Given the description of an element on the screen output the (x, y) to click on. 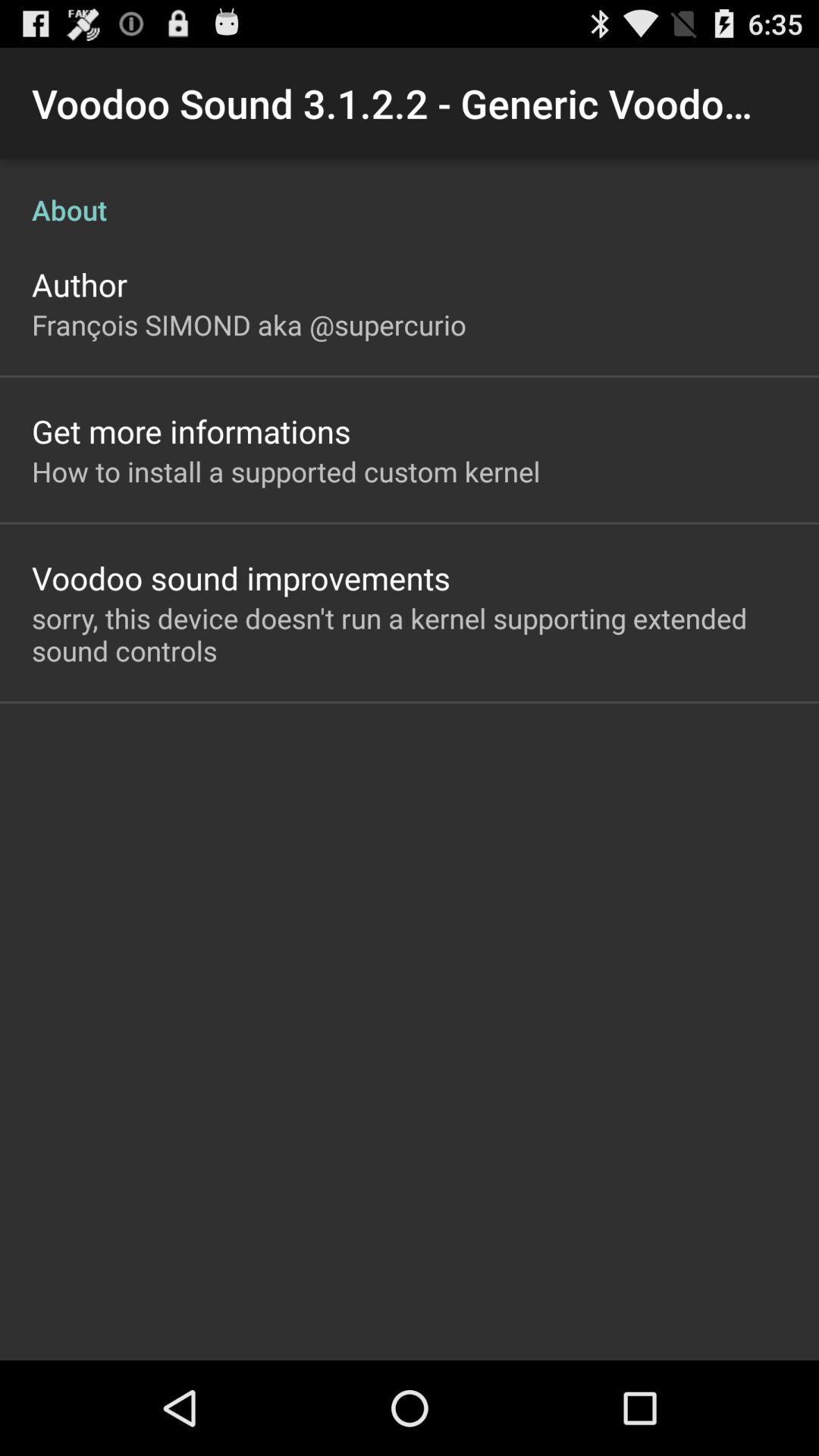
launch item above the author icon (409, 193)
